Given the description of an element on the screen output the (x, y) to click on. 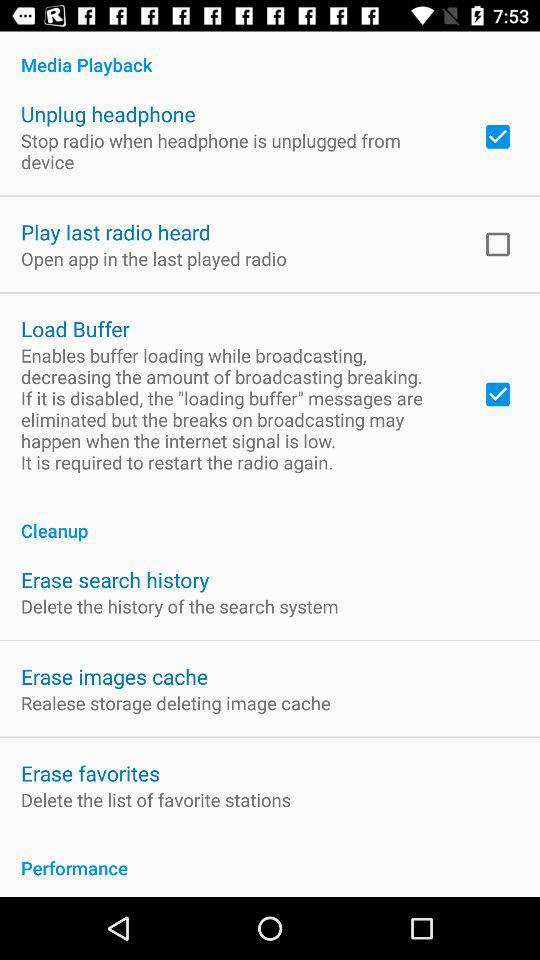
choose icon above the erase search history icon (270, 520)
